Given the description of an element on the screen output the (x, y) to click on. 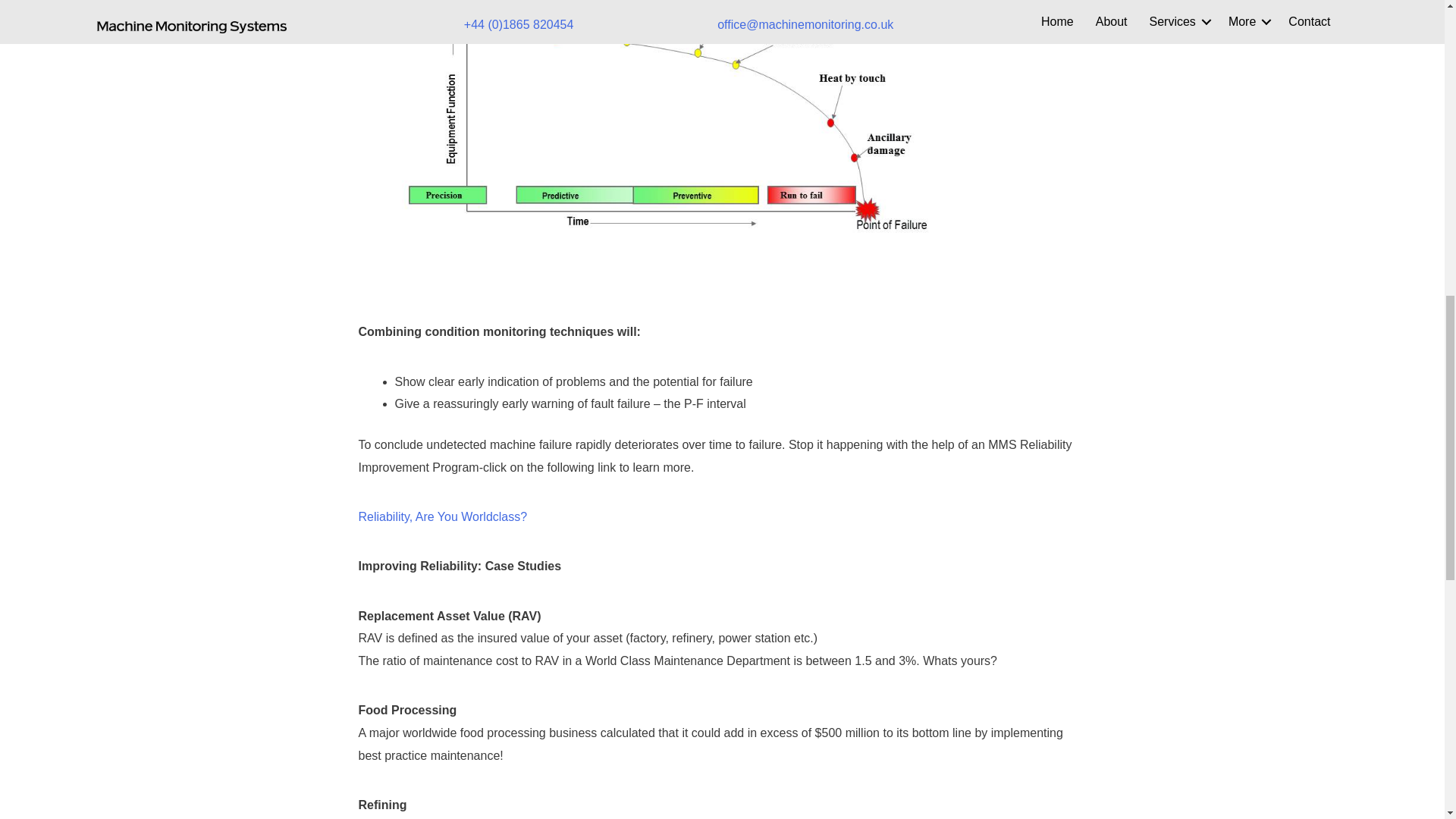
Reliability, Are You Worldclass? (442, 516)
